Given the description of an element on the screen output the (x, y) to click on. 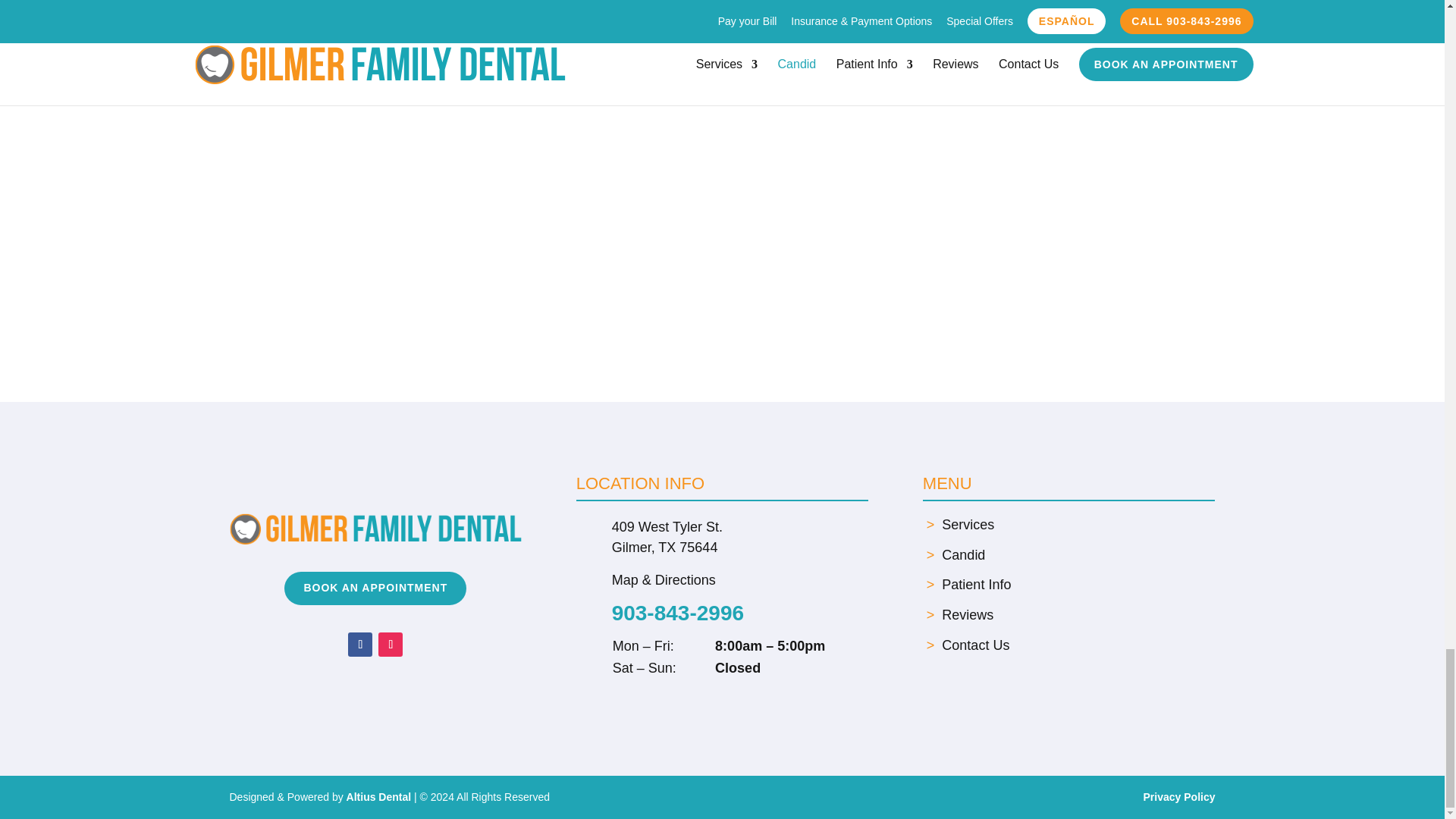
Follow on Instagram (390, 644)
Follow on Facebook (359, 644)
Gilmer Family Dental logo (374, 528)
